Given the description of an element on the screen output the (x, y) to click on. 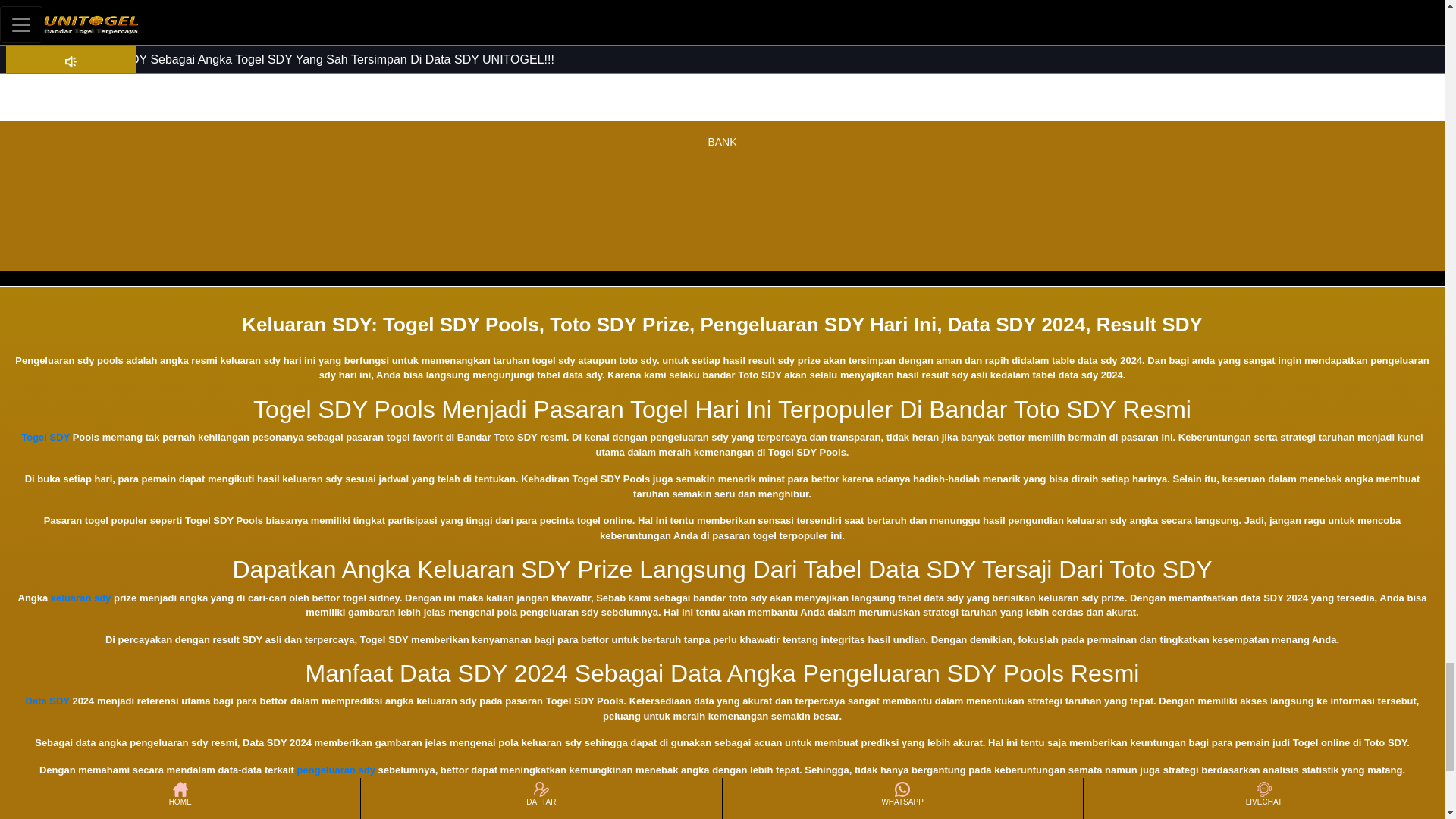
Togel SDY (45, 437)
keluaran sdy (81, 597)
pengeluaran sdy (336, 769)
Data SDY (47, 700)
